Given the description of an element on the screen output the (x, y) to click on. 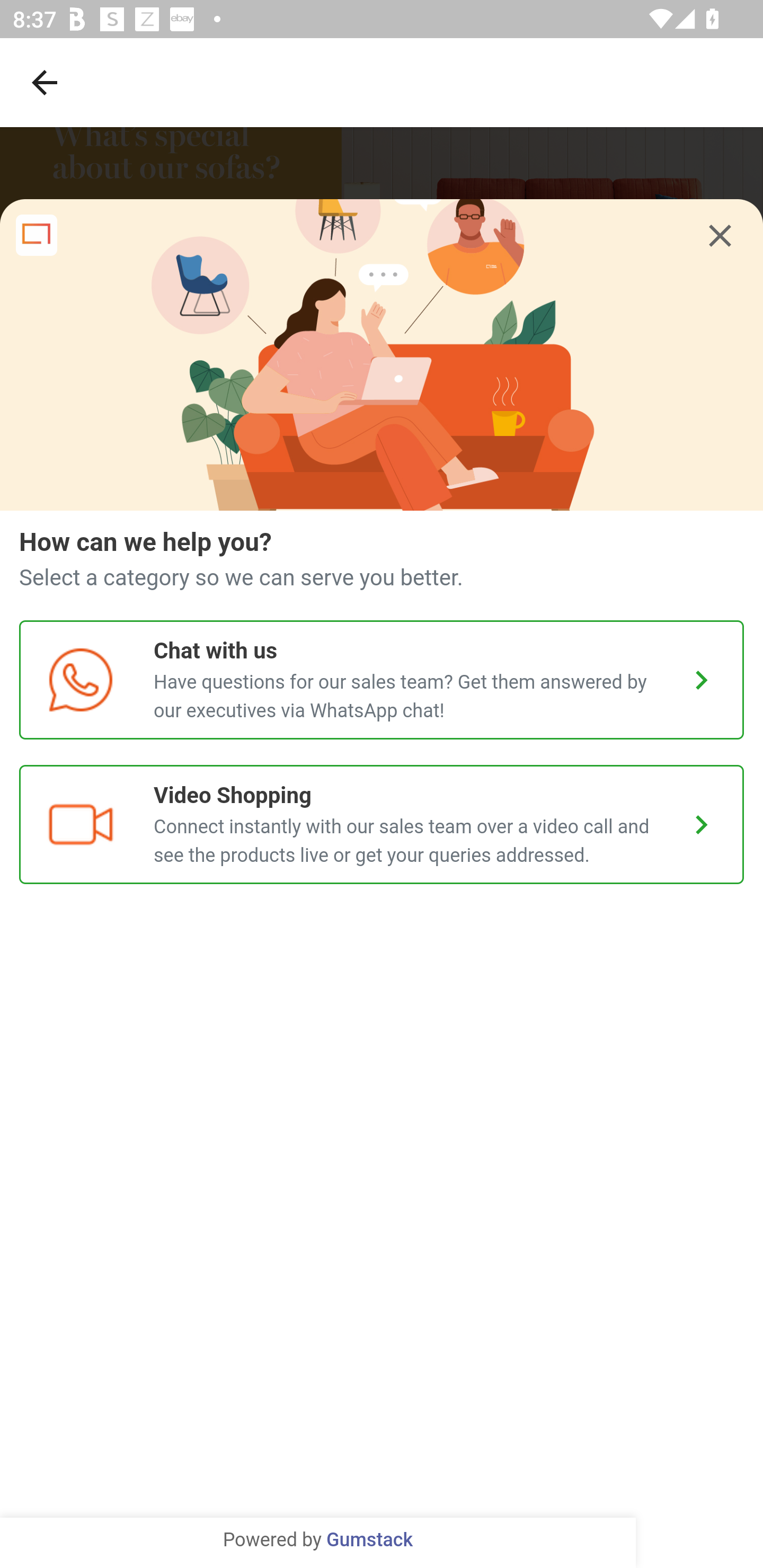
Navigate up (44, 82)
clear (720, 237)
Gumstack (369, 1540)
